Given the description of an element on the screen output the (x, y) to click on. 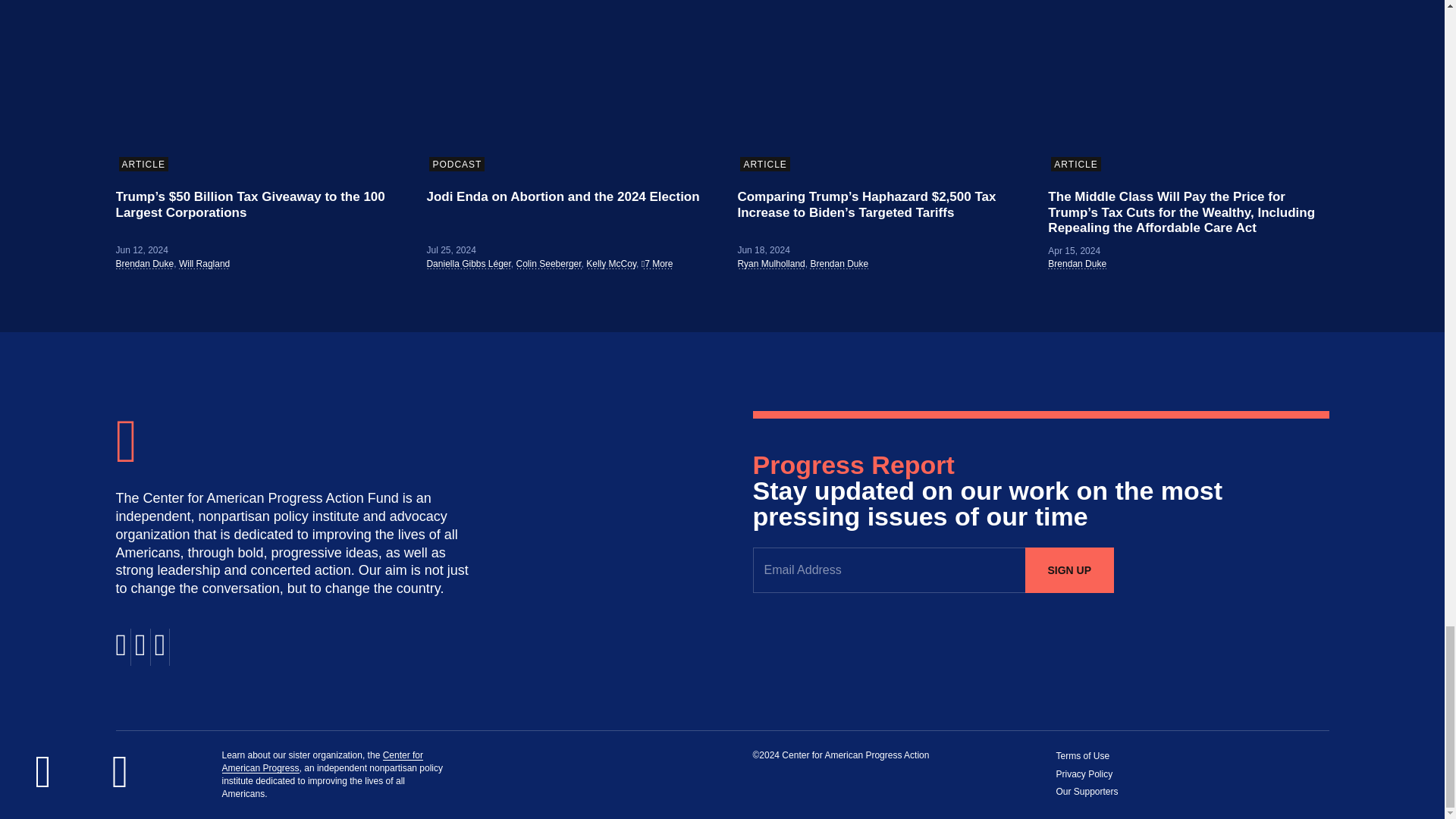
Will Ragland (204, 263)
Colin Seeberger (548, 263)
Kelly McCoy (611, 263)
Brendan Duke (144, 263)
